Given the description of an element on the screen output the (x, y) to click on. 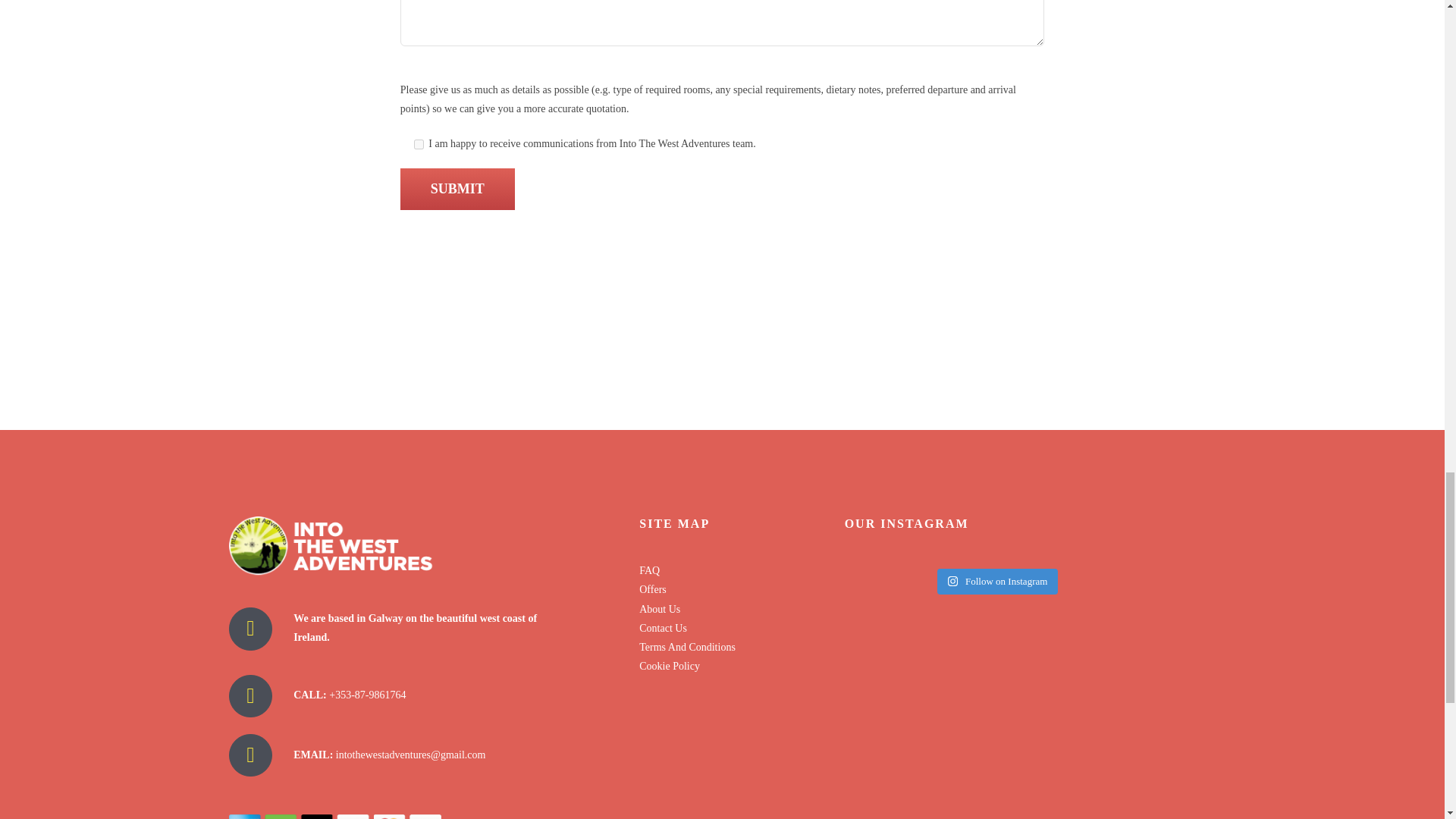
1 (418, 144)
Group300px-white (330, 545)
SUBMIT (457, 188)
Payment Options (334, 816)
